Given the description of an element on the screen output the (x, y) to click on. 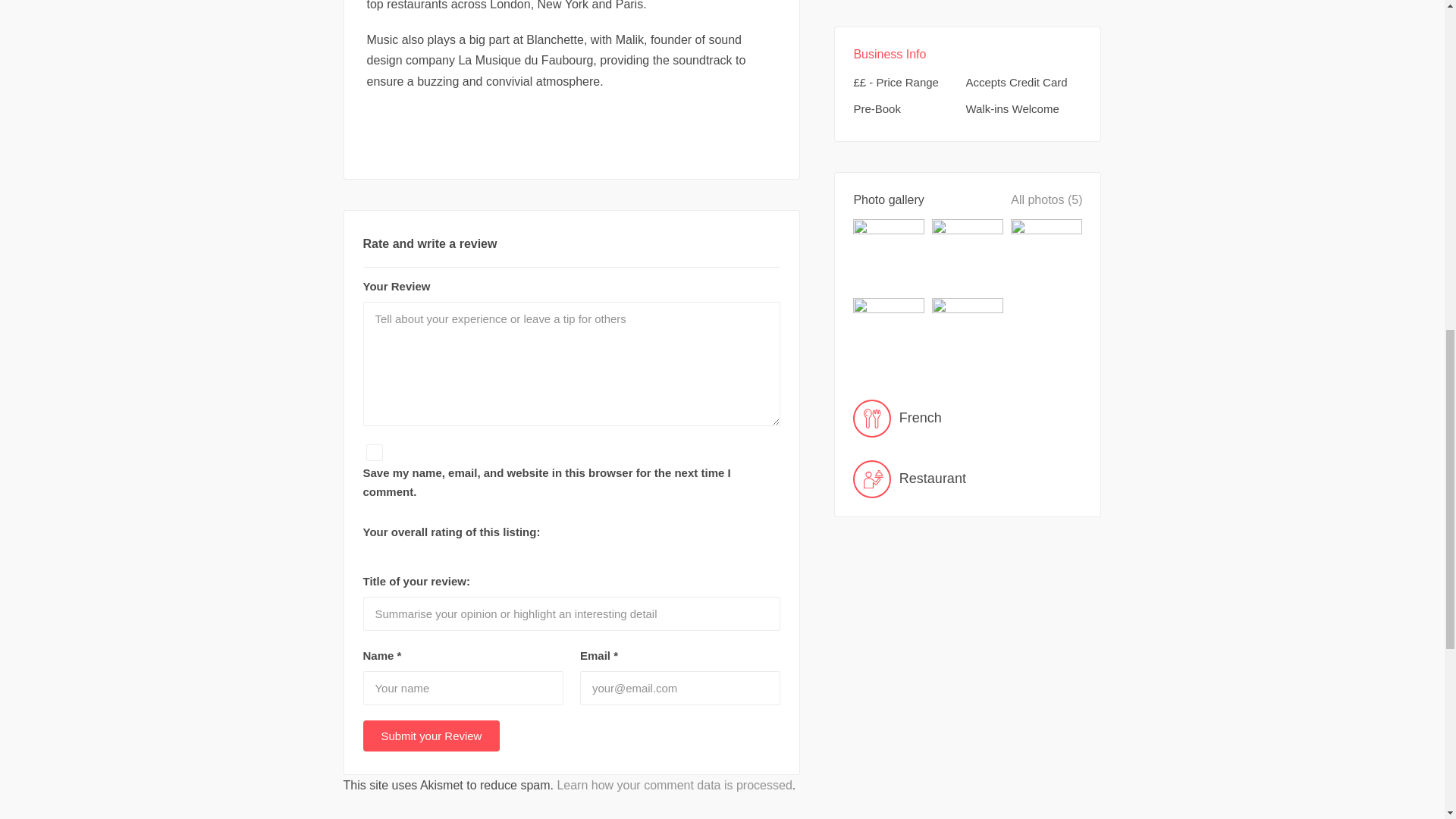
Accepts Credit Card (1021, 81)
Learn how your comment data is processed (674, 784)
Submit your Review (430, 735)
Restaurant (967, 478)
Pre-Book (909, 108)
French (967, 418)
yes (373, 452)
Submit your Review (430, 735)
Walk-ins Welcome (1021, 108)
